Given the description of an element on the screen output the (x, y) to click on. 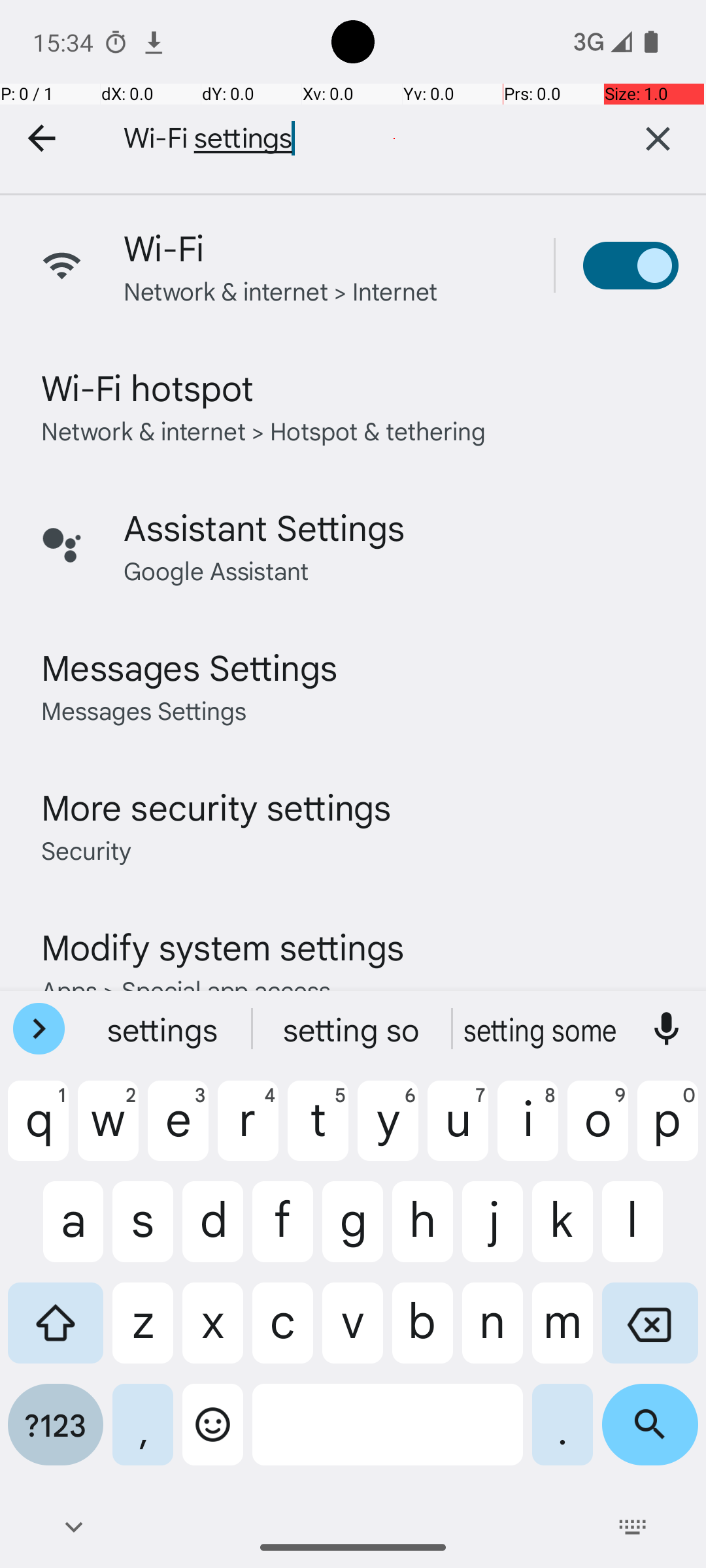
Wi-Fi settings Element type: android.widget.EditText (345, 138)
Network & internet > Internet Element type: android.widget.TextView (280, 289)
Wi-Fi hotspot Element type: android.widget.TextView (147, 386)
Network & internet > Hotspot & tethering Element type: android.widget.TextView (263, 429)
Assistant Settings Element type: android.widget.TextView (263, 526)
Google Assistant Element type: android.widget.TextView (215, 569)
Messages Settings Element type: android.widget.TextView (189, 666)
Modify system settings Element type: android.widget.TextView (222, 945)
Apps > Special app access Element type: android.widget.TextView (185, 988)
settings Element type: android.widget.FrameLayout (163, 1028)
setting so Element type: android.widget.FrameLayout (352, 1028)
setting some Element type: android.widget.FrameLayout (541, 1028)
